Given the description of an element on the screen output the (x, y) to click on. 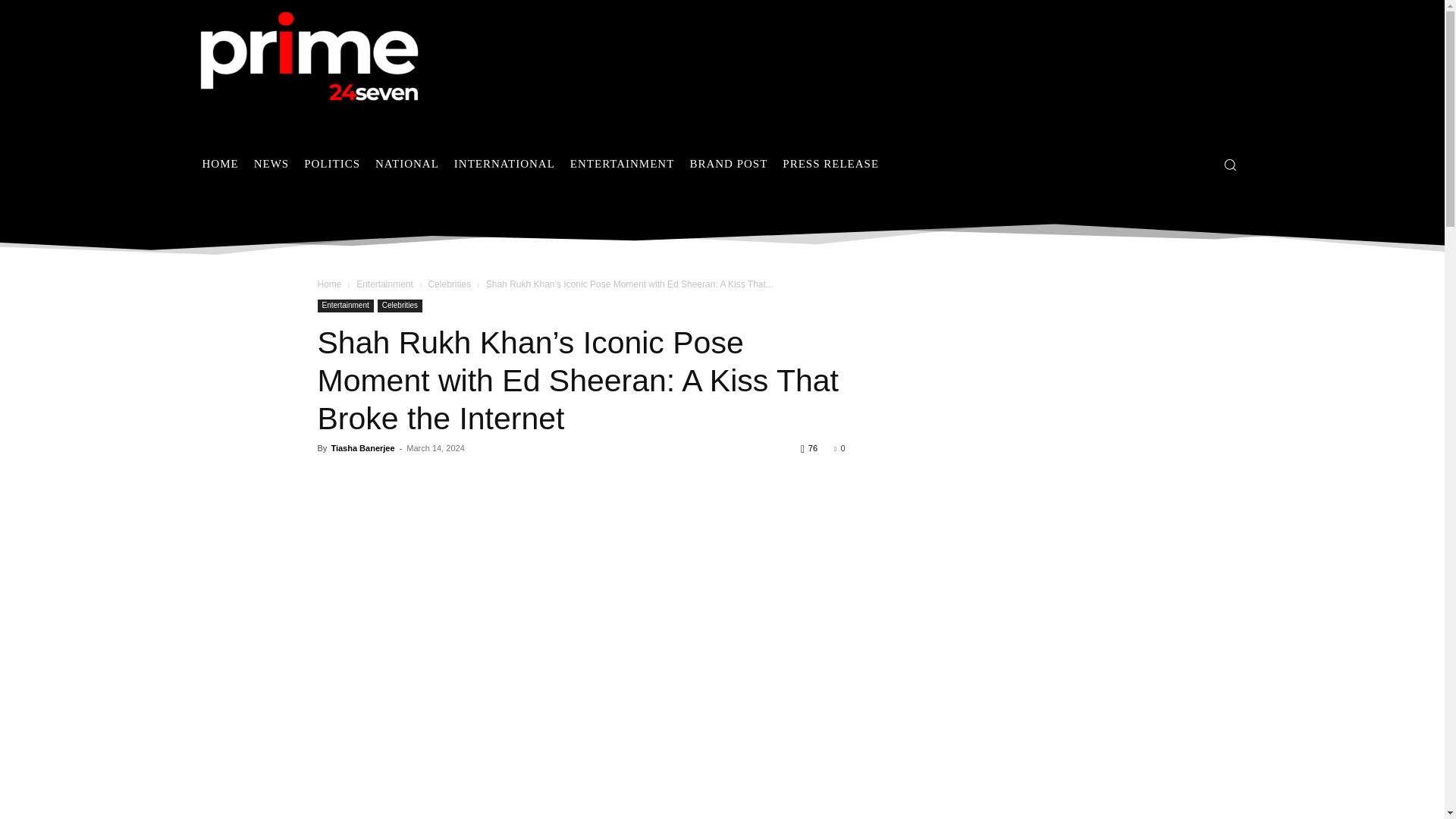
Home (328, 284)
Tiasha Banerjee (362, 447)
NATIONAL (407, 163)
0 (839, 447)
Entertainment (344, 305)
View all posts in Entertainment (384, 284)
PRESS RELEASE (830, 163)
BRAND POST (727, 163)
Celebrities (399, 305)
ENTERTAINMENT (622, 163)
POLITICS (332, 163)
INTERNATIONAL (504, 163)
Celebrities (449, 284)
View all posts in Celebrities (449, 284)
Entertainment (384, 284)
